Given the description of an element on the screen output the (x, y) to click on. 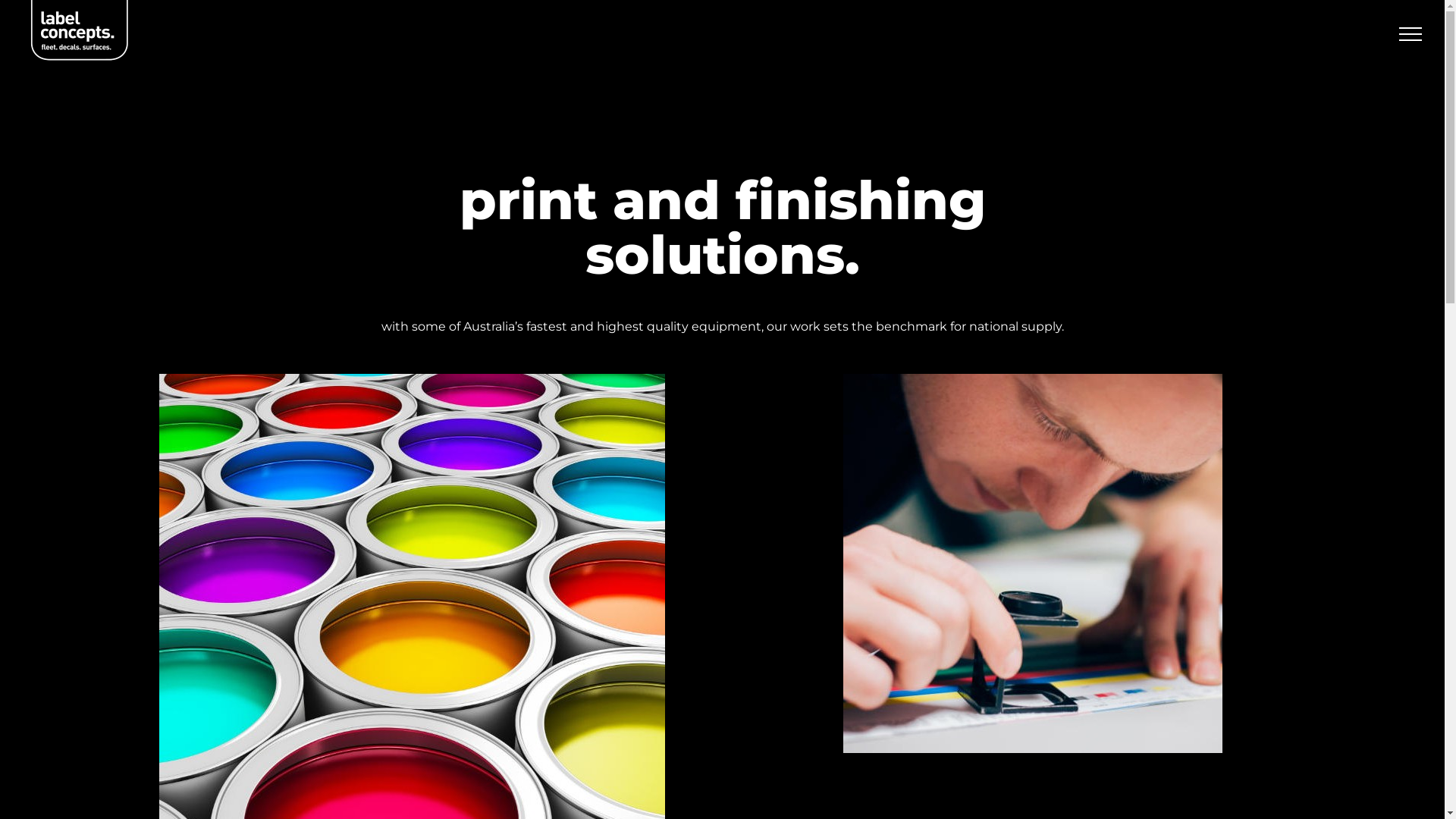
print-and-finishing-vertical-2 Element type: hover (1032, 563)
